Given the description of an element on the screen output the (x, y) to click on. 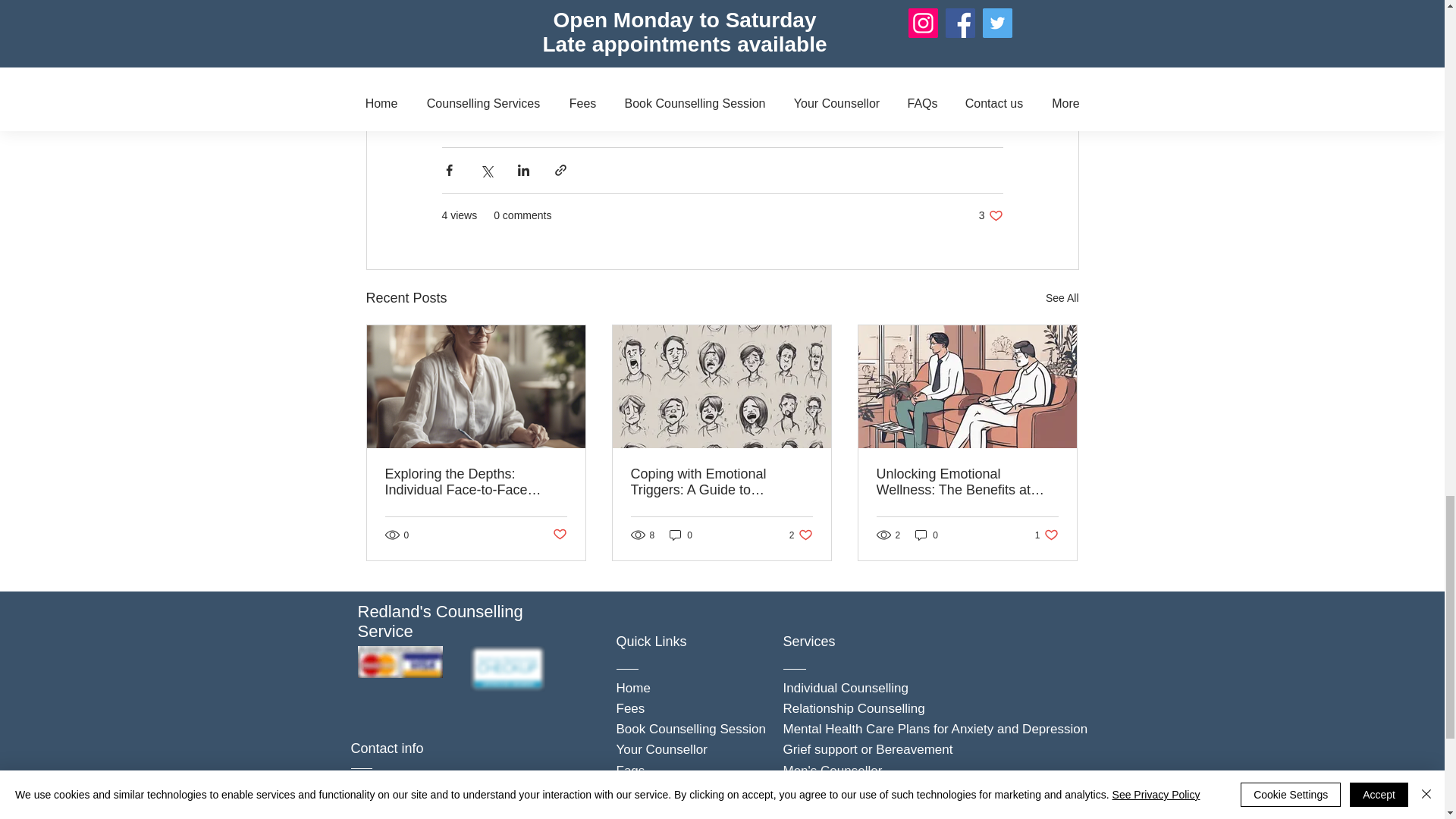
0 (681, 534)
See All (990, 215)
Post not marked as liked (1061, 298)
